Given the description of an element on the screen output the (x, y) to click on. 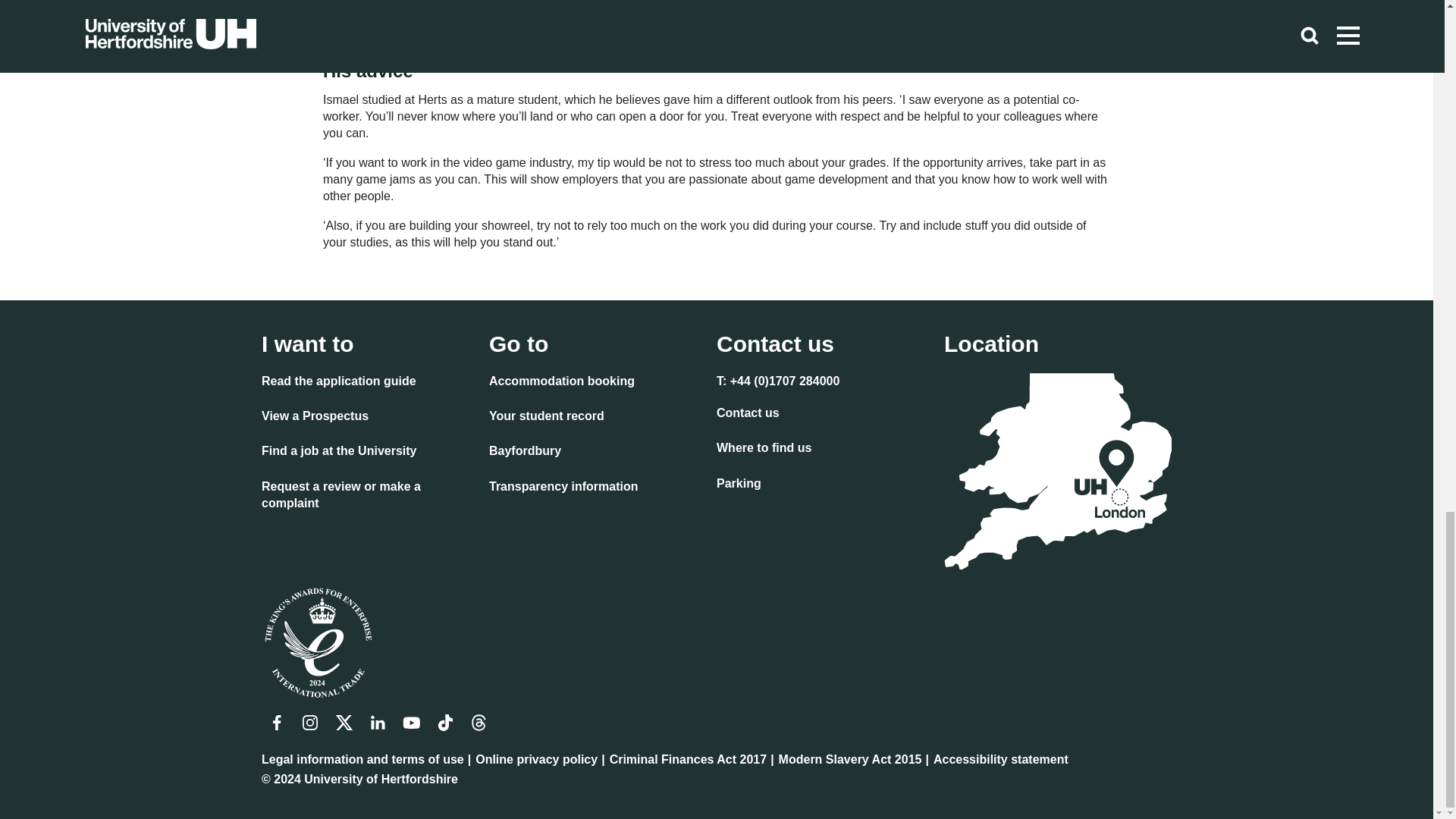
Bayfordbury (524, 452)
Where to find us (763, 449)
View a Prospectus (315, 417)
Request a review or make a complaint (369, 496)
Accommodation booking (561, 383)
Transparency information (564, 487)
Contact us (747, 414)
Your student record (546, 417)
Find a job at the University (339, 452)
Read the application guide (339, 383)
